Given the description of an element on the screen output the (x, y) to click on. 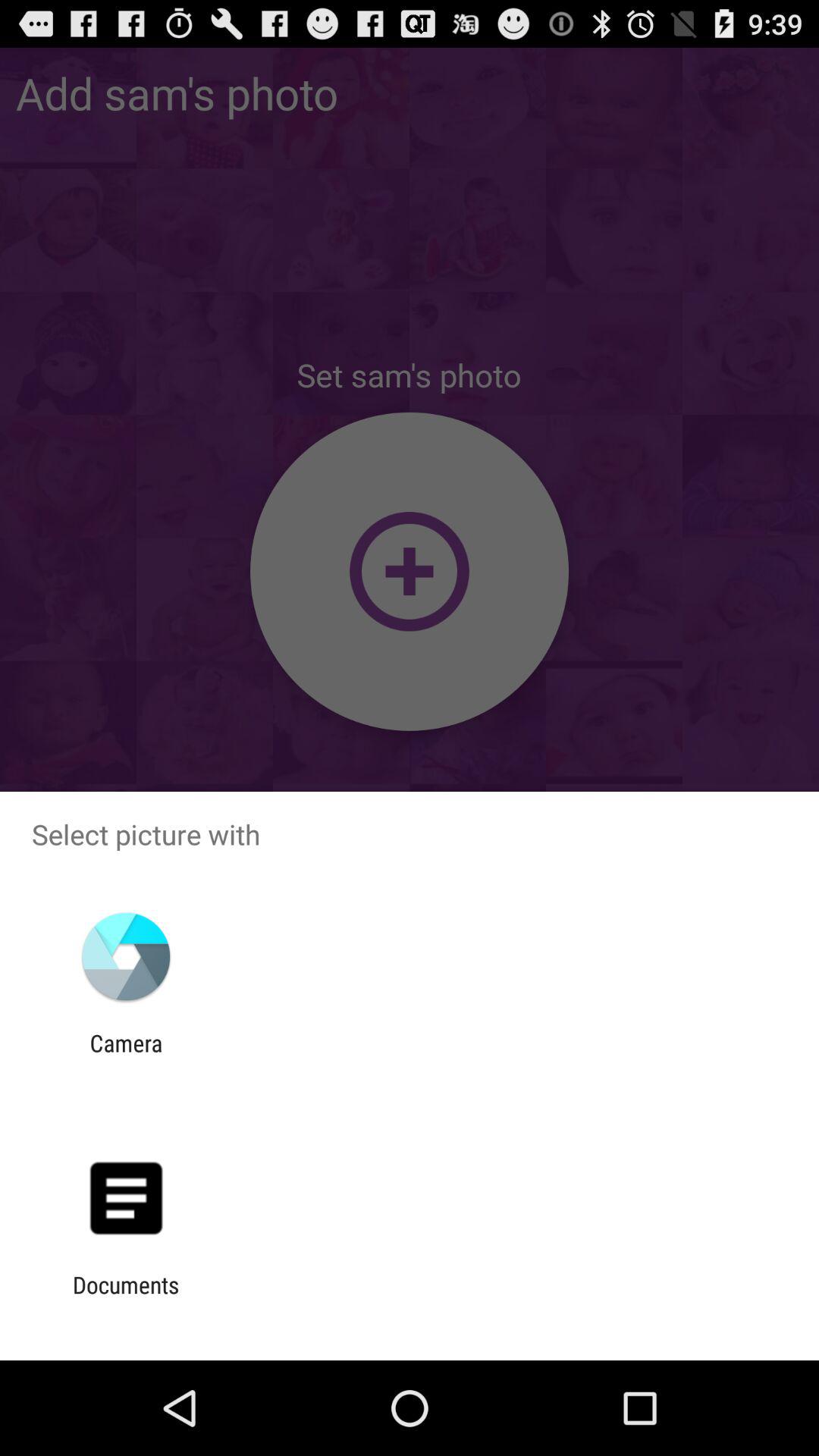
turn on the documents item (125, 1298)
